Given the description of an element on the screen output the (x, y) to click on. 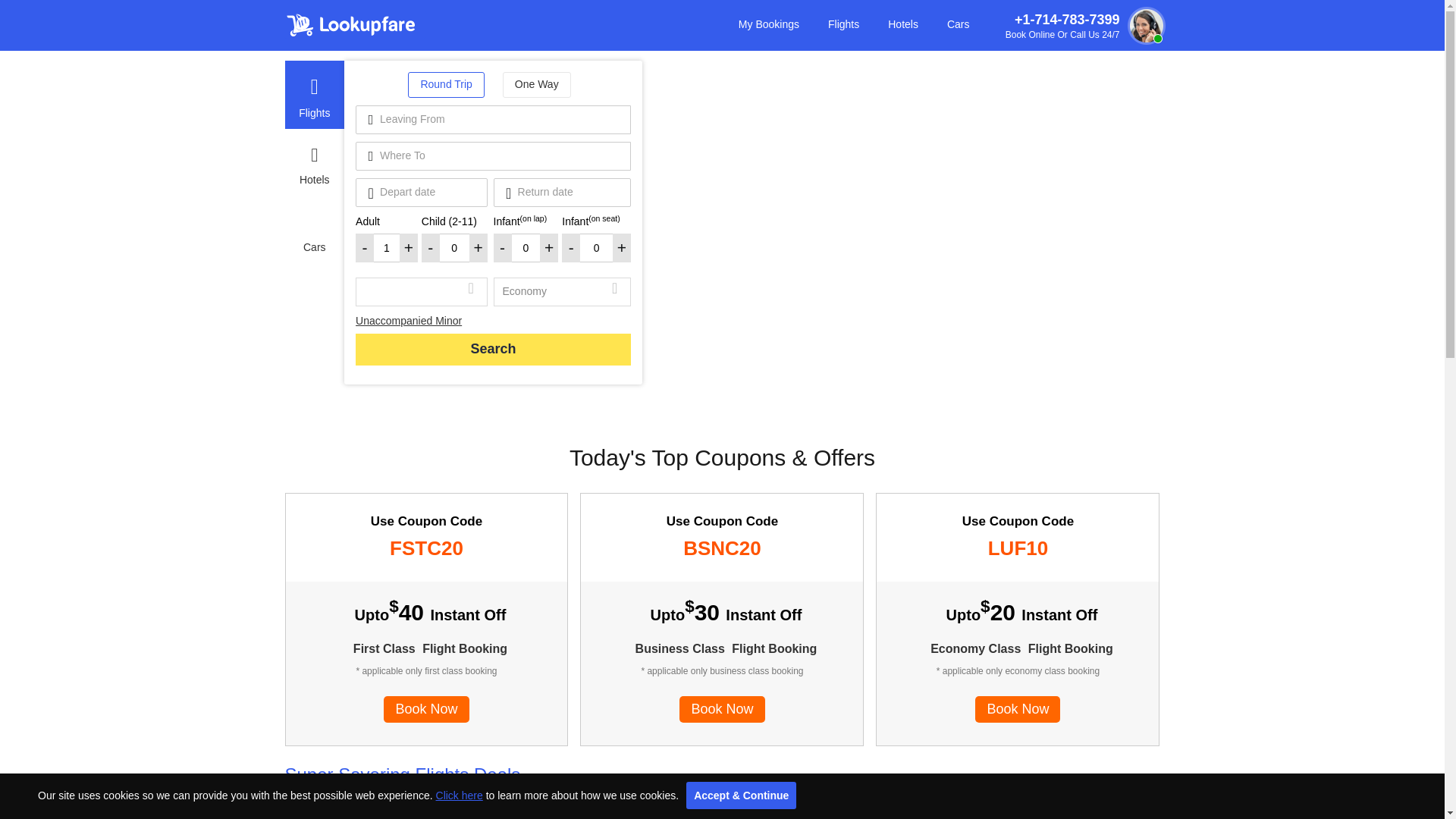
0 (596, 247)
0 (526, 247)
Search (492, 349)
Click here (459, 795)
1 (386, 247)
Hotels (903, 21)
Flights (843, 21)
0 (454, 247)
My Bookings (768, 21)
